Given the description of an element on the screen output the (x, y) to click on. 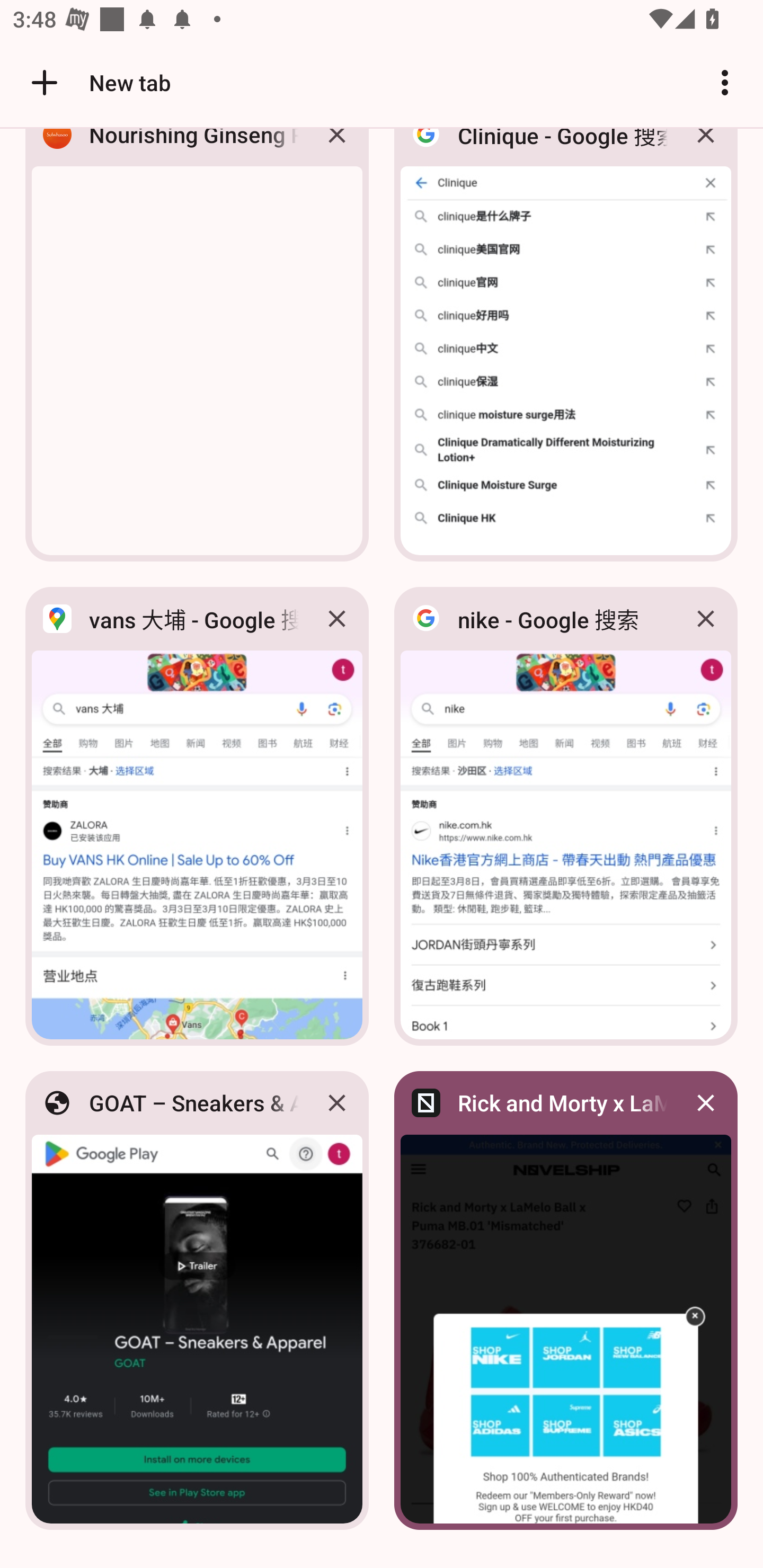
Open the home page (38, 82)
New tab (98, 82)
Customize and control Google Chrome (724, 82)
Customize and control Google Chrome (724, 82)
Customize and control Google Chrome (724, 82)
Close Clinique - Google 搜索 tab (705, 149)
Close vans 大埔 - Google 搜索 tab (337, 618)
Close nike - Google 搜索 tab (705, 618)
